Given the description of an element on the screen output the (x, y) to click on. 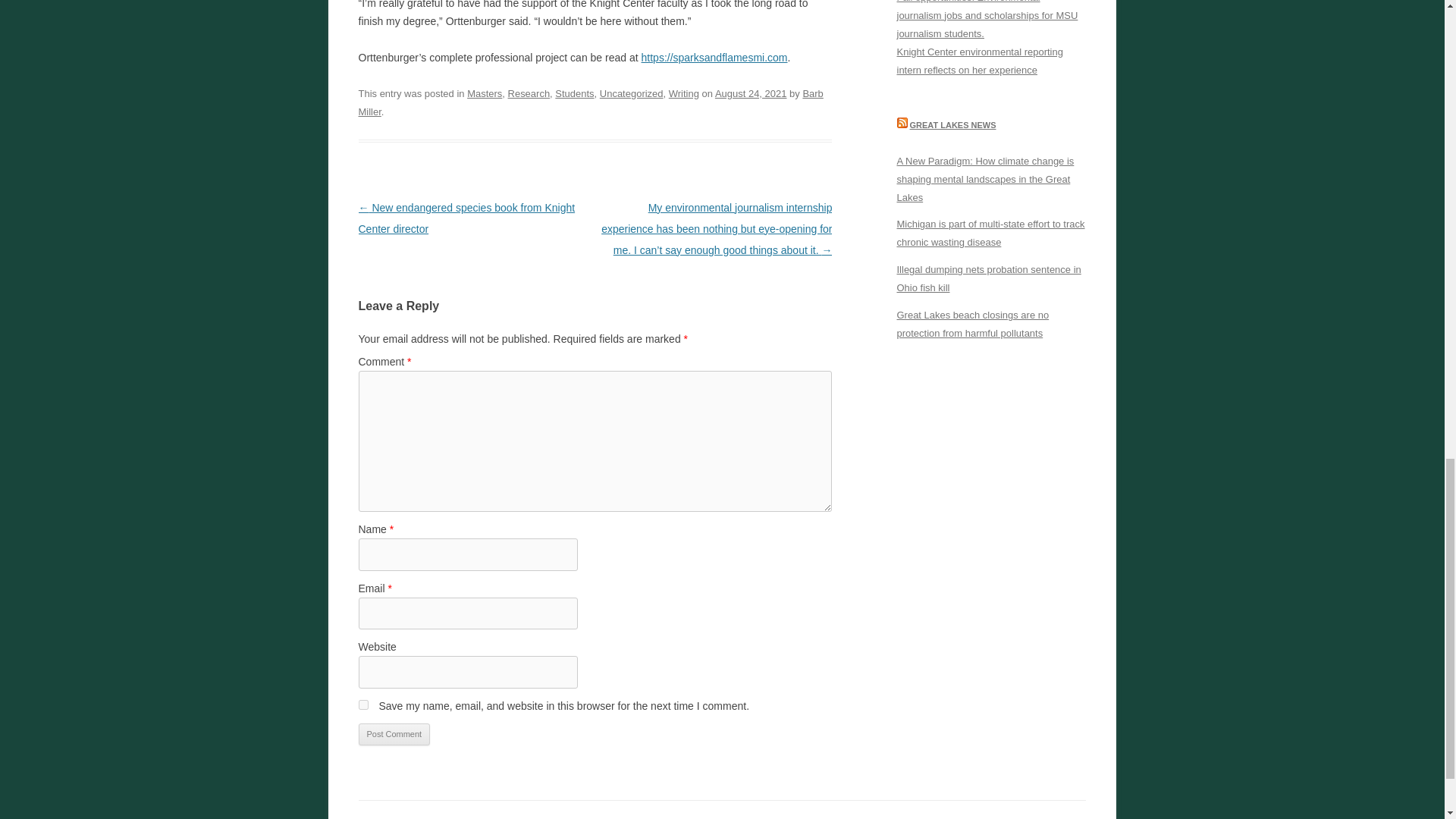
9:27 am (750, 93)
yes (363, 705)
Post Comment (393, 734)
View all posts by Barb Miller (590, 102)
